Given the description of an element on the screen output the (x, y) to click on. 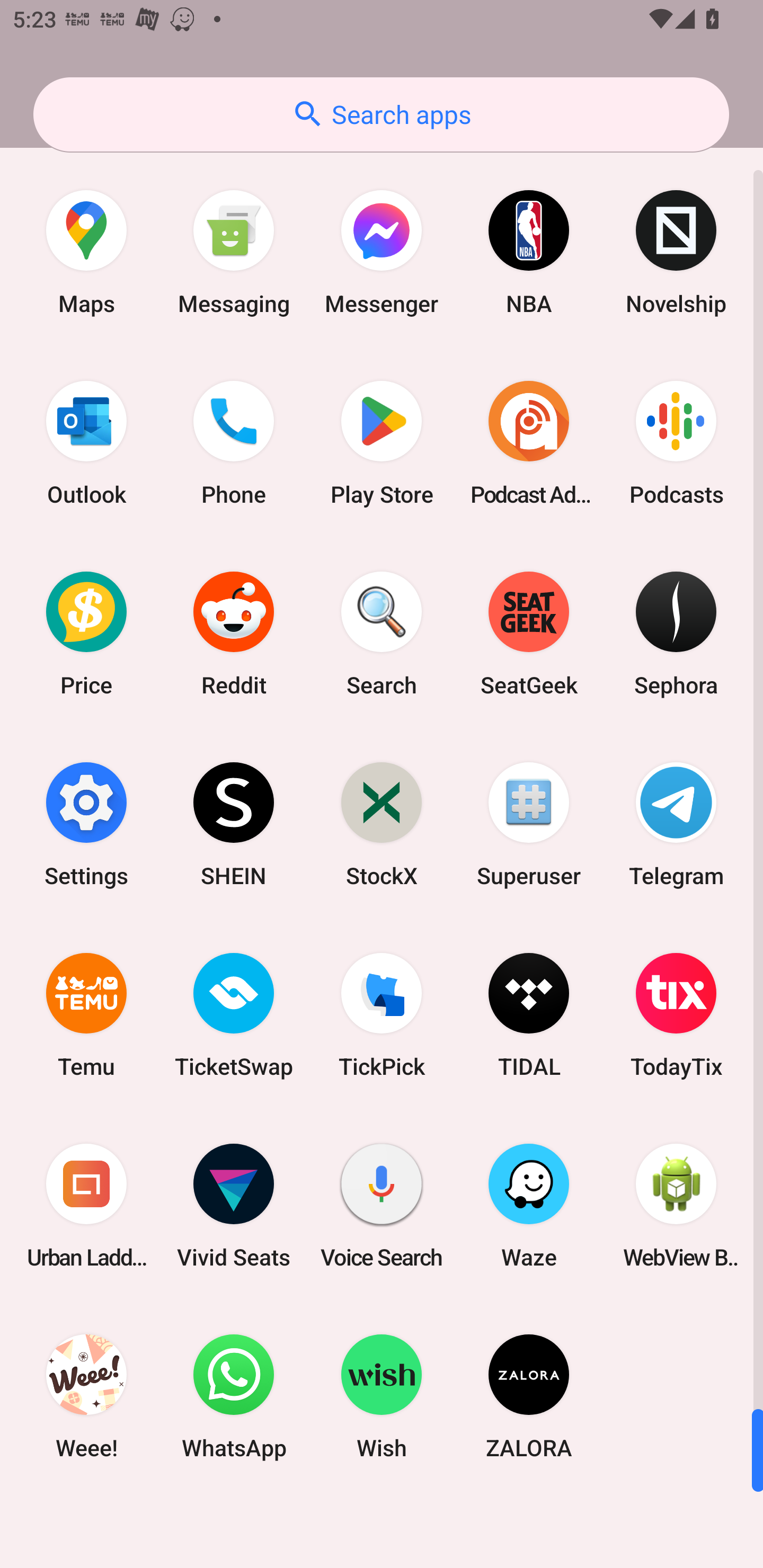
  Search apps (381, 114)
Maps (86, 252)
Messaging (233, 252)
Messenger (381, 252)
NBA (528, 252)
Novelship (676, 252)
Outlook (86, 442)
Phone (233, 442)
Play Store (381, 442)
Podcast Addict (528, 442)
Podcasts (676, 442)
Price (86, 633)
Reddit (233, 633)
Search (381, 633)
SeatGeek (528, 633)
Sephora (676, 633)
Settings (86, 823)
SHEIN (233, 823)
StockX (381, 823)
Superuser (528, 823)
Telegram (676, 823)
Temu (86, 1014)
TicketSwap (233, 1014)
TickPick (381, 1014)
TIDAL (528, 1014)
TodayTix (676, 1014)
Urban Ladder (86, 1205)
Vivid Seats (233, 1205)
Voice Search (381, 1205)
Waze (528, 1205)
WebView Browser Tester (676, 1205)
Weee! (86, 1396)
WhatsApp (233, 1396)
Wish (381, 1396)
ZALORA (528, 1396)
